Given the description of an element on the screen output the (x, y) to click on. 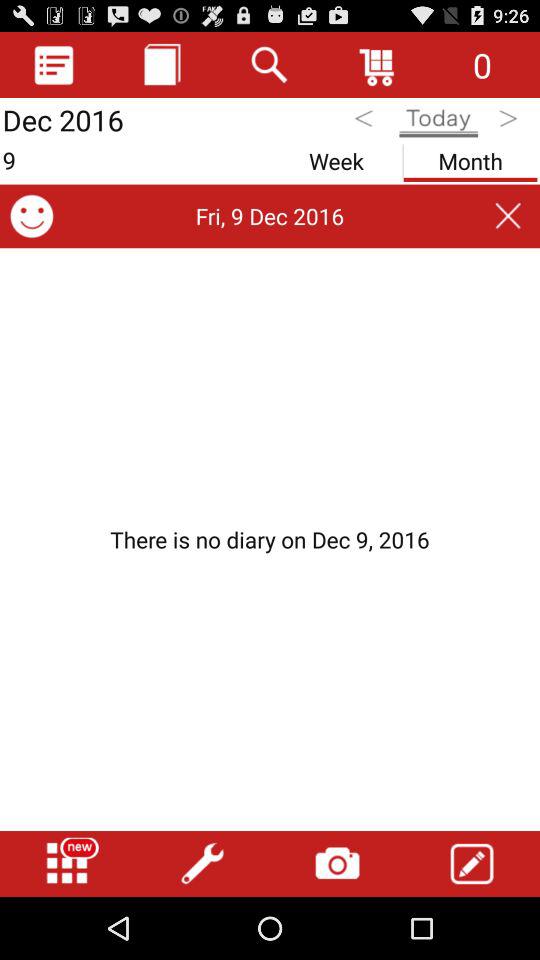
delete entry (507, 215)
